Given the description of an element on the screen output the (x, y) to click on. 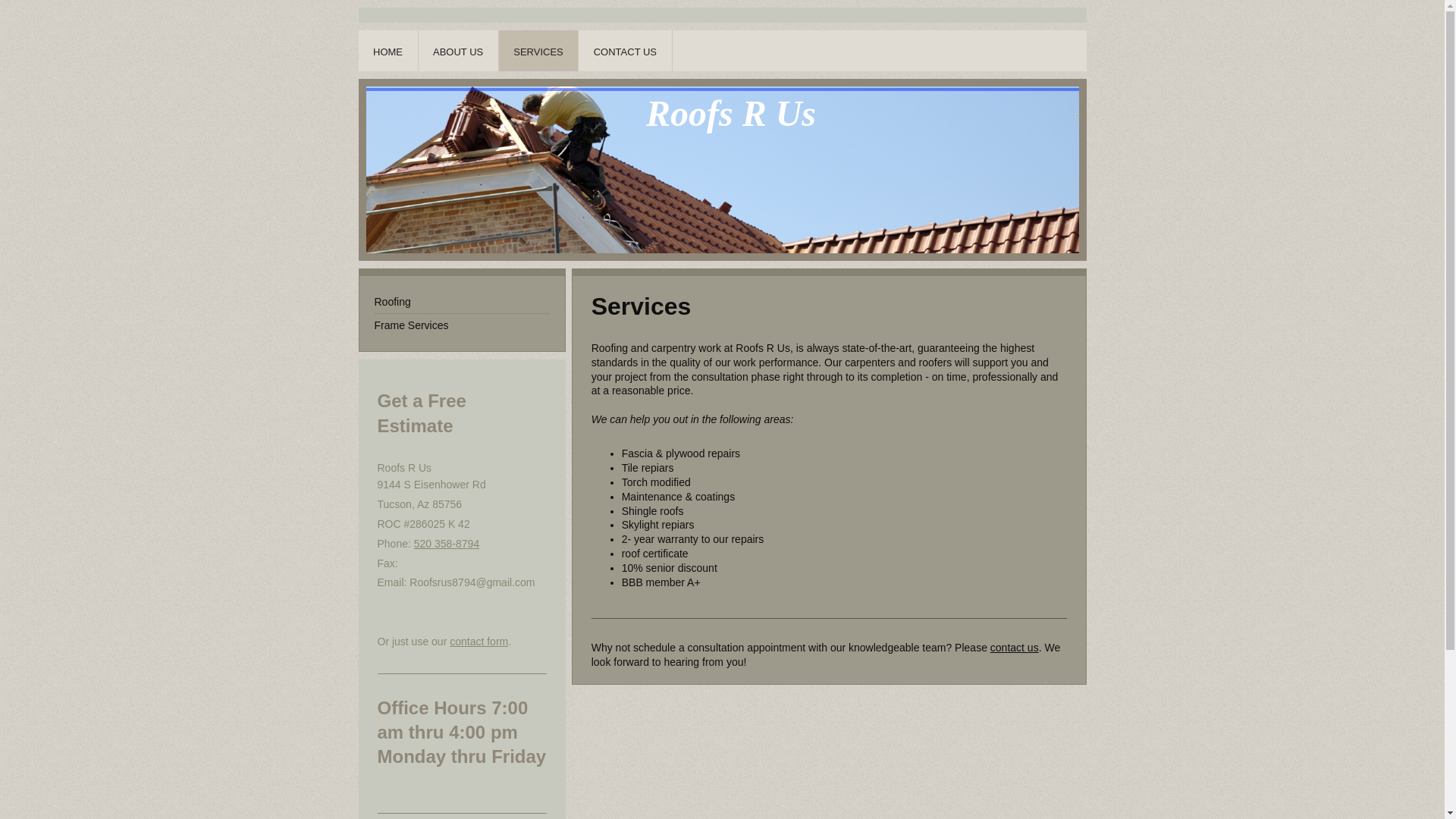
ABOUT US (459, 50)
contact us (1014, 647)
CONTACT US (624, 50)
contact form (478, 641)
520 358-8794 (446, 543)
Frame Services (462, 324)
SERVICES (539, 50)
Roofing (462, 302)
HOME (387, 50)
Roofs R Us (730, 112)
